Given the description of an element on the screen output the (x, y) to click on. 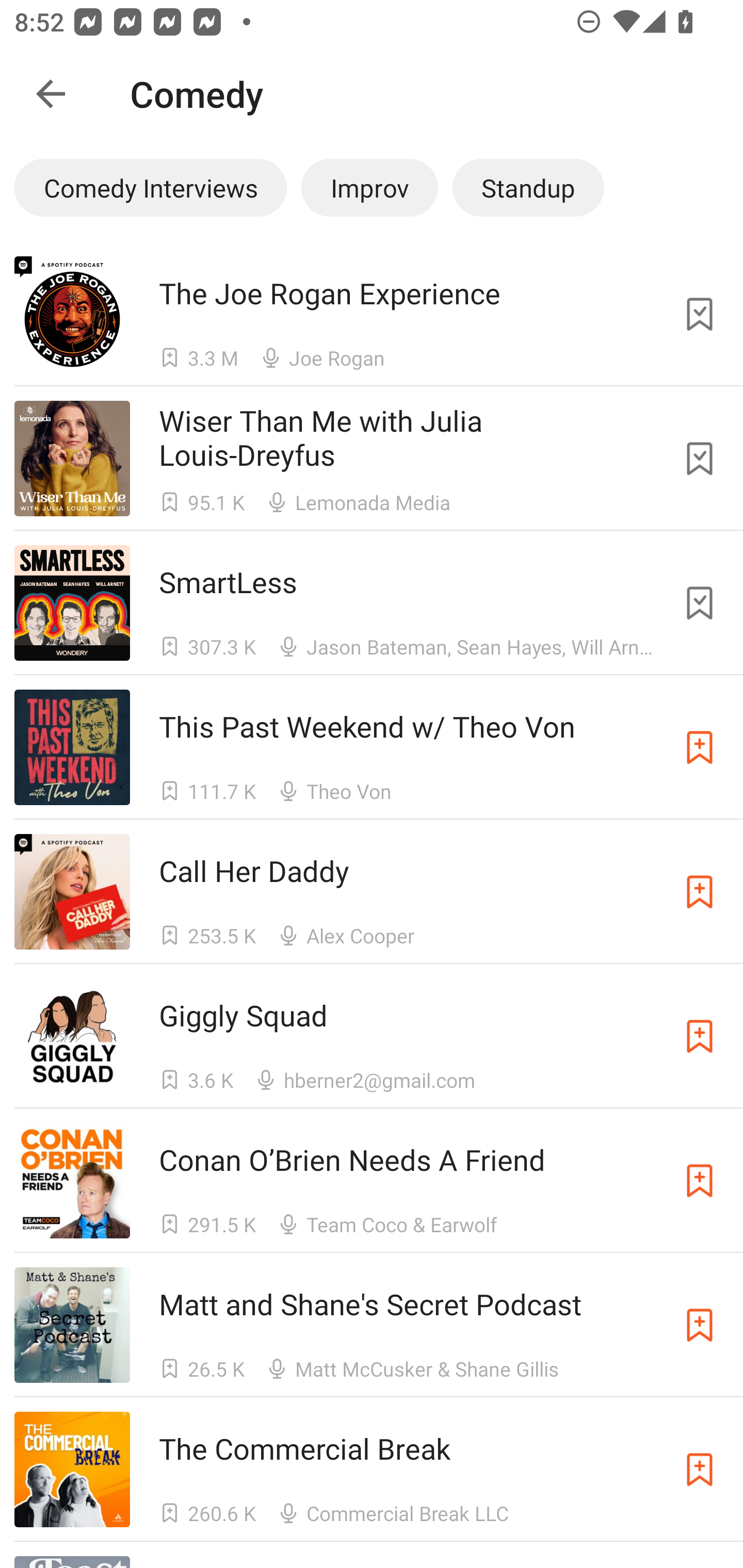
Navigate up (50, 93)
Comedy Interviews (150, 187)
Improv (369, 187)
Standup (528, 187)
Unsubscribe (699, 313)
Unsubscribe (699, 458)
Unsubscribe (699, 602)
Subscribe (699, 746)
Subscribe (699, 892)
Subscribe (699, 1036)
Subscribe (699, 1180)
Subscribe (699, 1324)
Subscribe (699, 1469)
